Given the description of an element on the screen output the (x, y) to click on. 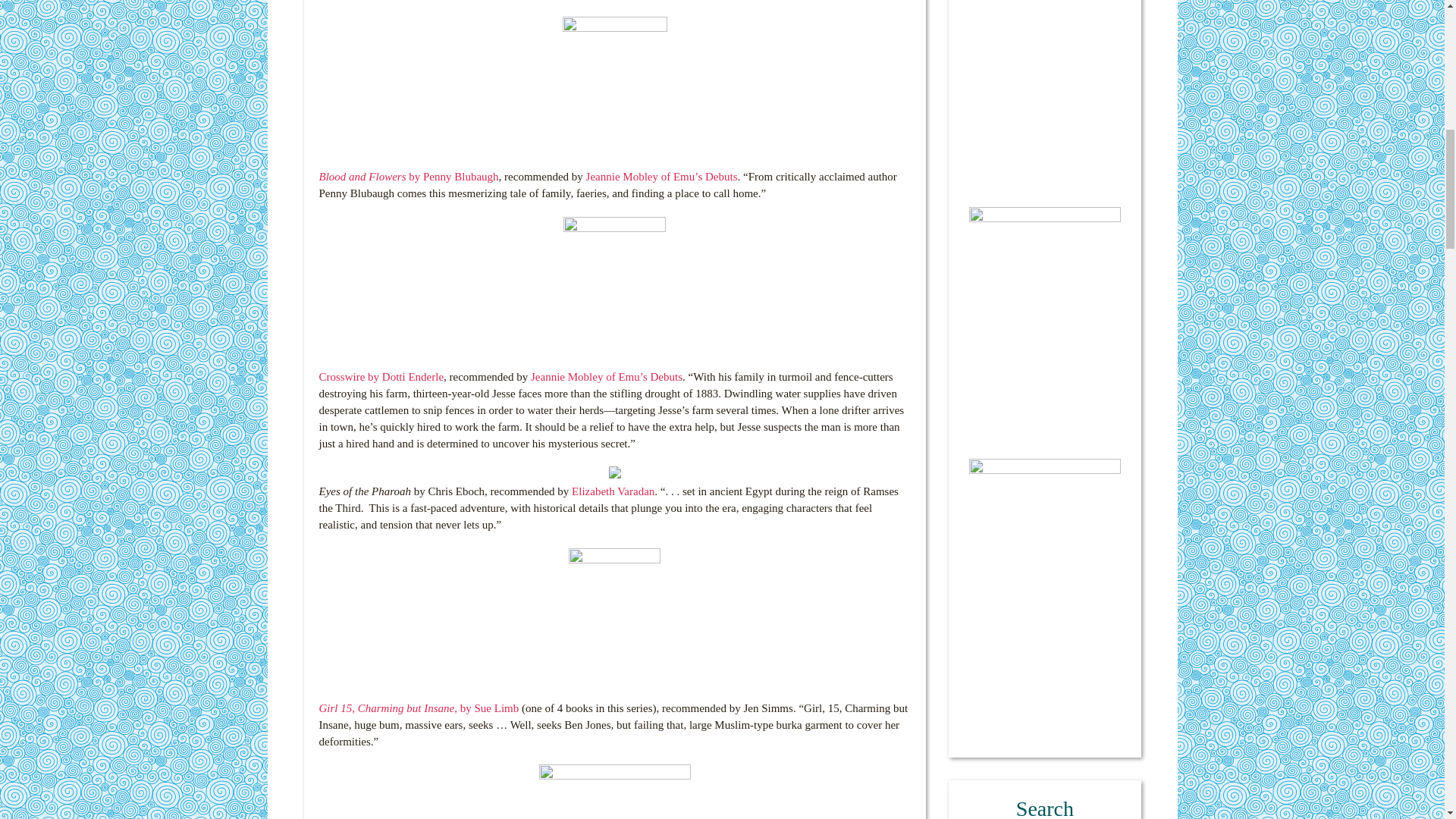
Crosswire by Dotti Enderle (381, 377)
Elizabeth Varadan (612, 491)
Girl 15, Charming but Insane, by Sue Limb (418, 707)
Blood and Flowers by Penny Blubaugh (407, 176)
